Given the description of an element on the screen output the (x, y) to click on. 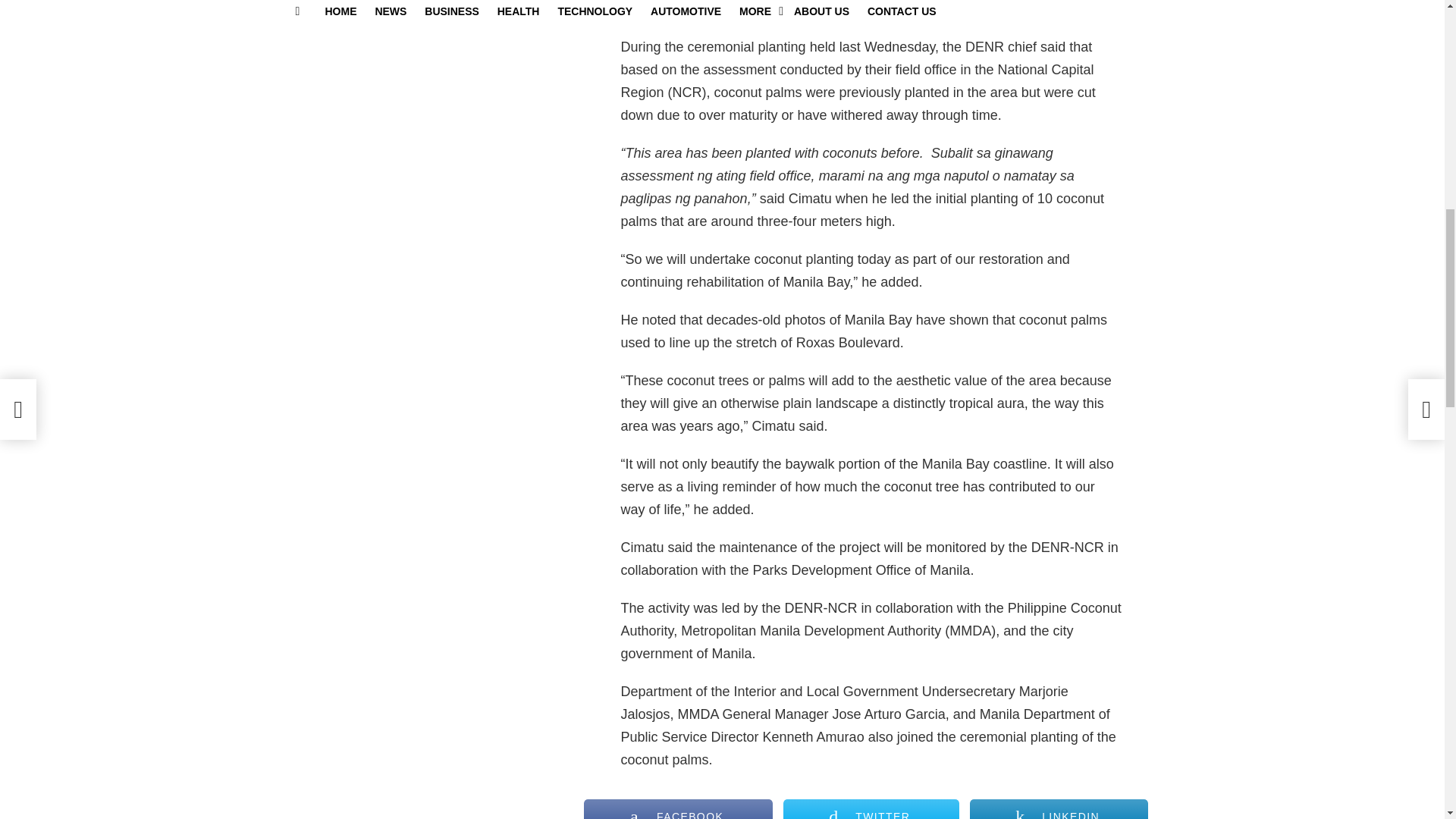
Share on Twitter (871, 809)
Share on Facebook (677, 809)
FACEBOOK (677, 809)
Share on LinkedIn (1058, 809)
TWITTER (871, 809)
LINKEDIN (1058, 809)
